Given the description of an element on the screen output the (x, y) to click on. 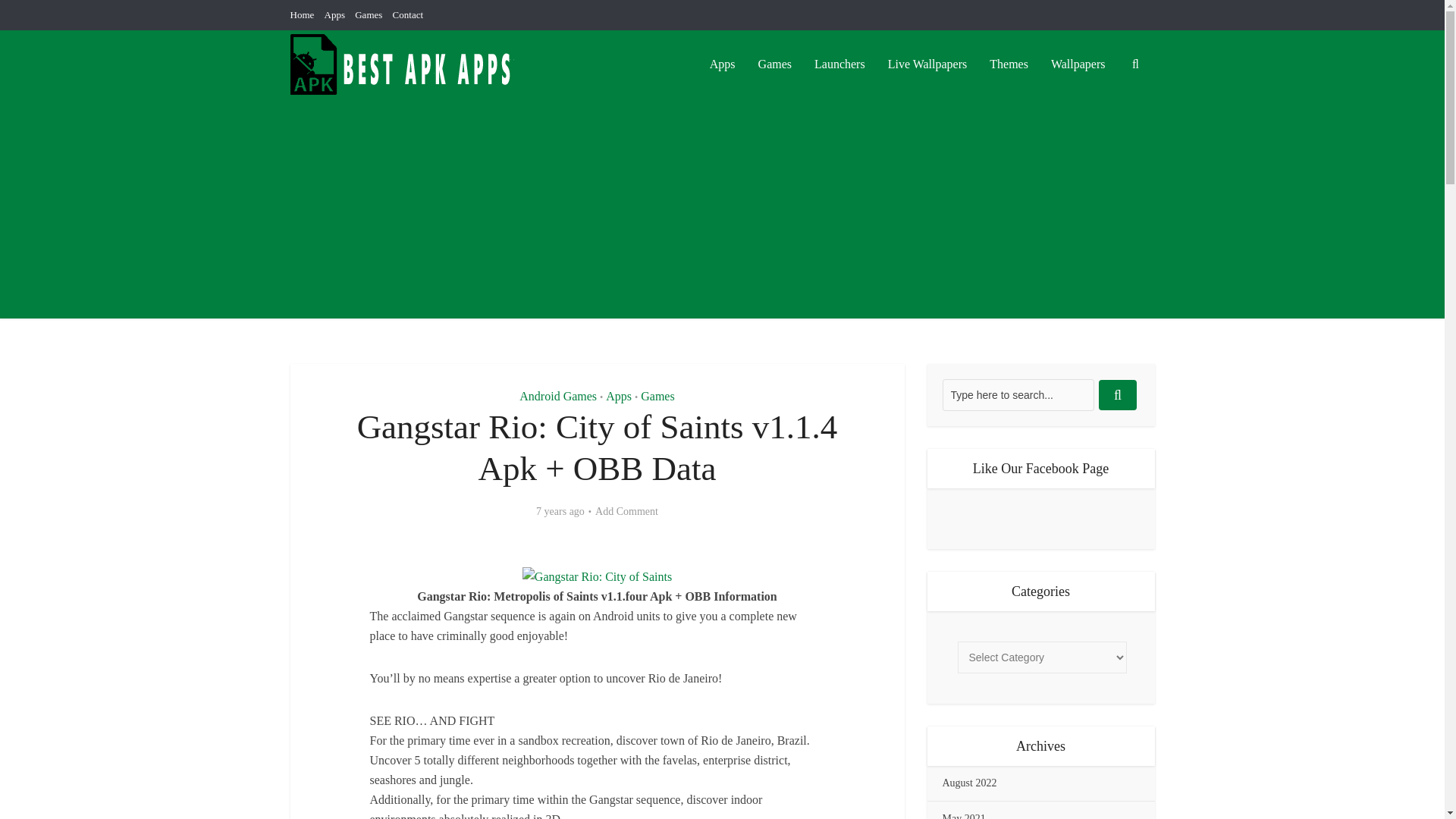
Launchers (839, 64)
Themes (1008, 64)
Wallpapers (1077, 64)
Type here to search... (1017, 395)
Add Comment (626, 511)
Games (368, 14)
Best Apk Apps (402, 64)
Android Games (557, 395)
Contact (408, 14)
Type here to search... (1017, 395)
